Given the description of an element on the screen output the (x, y) to click on. 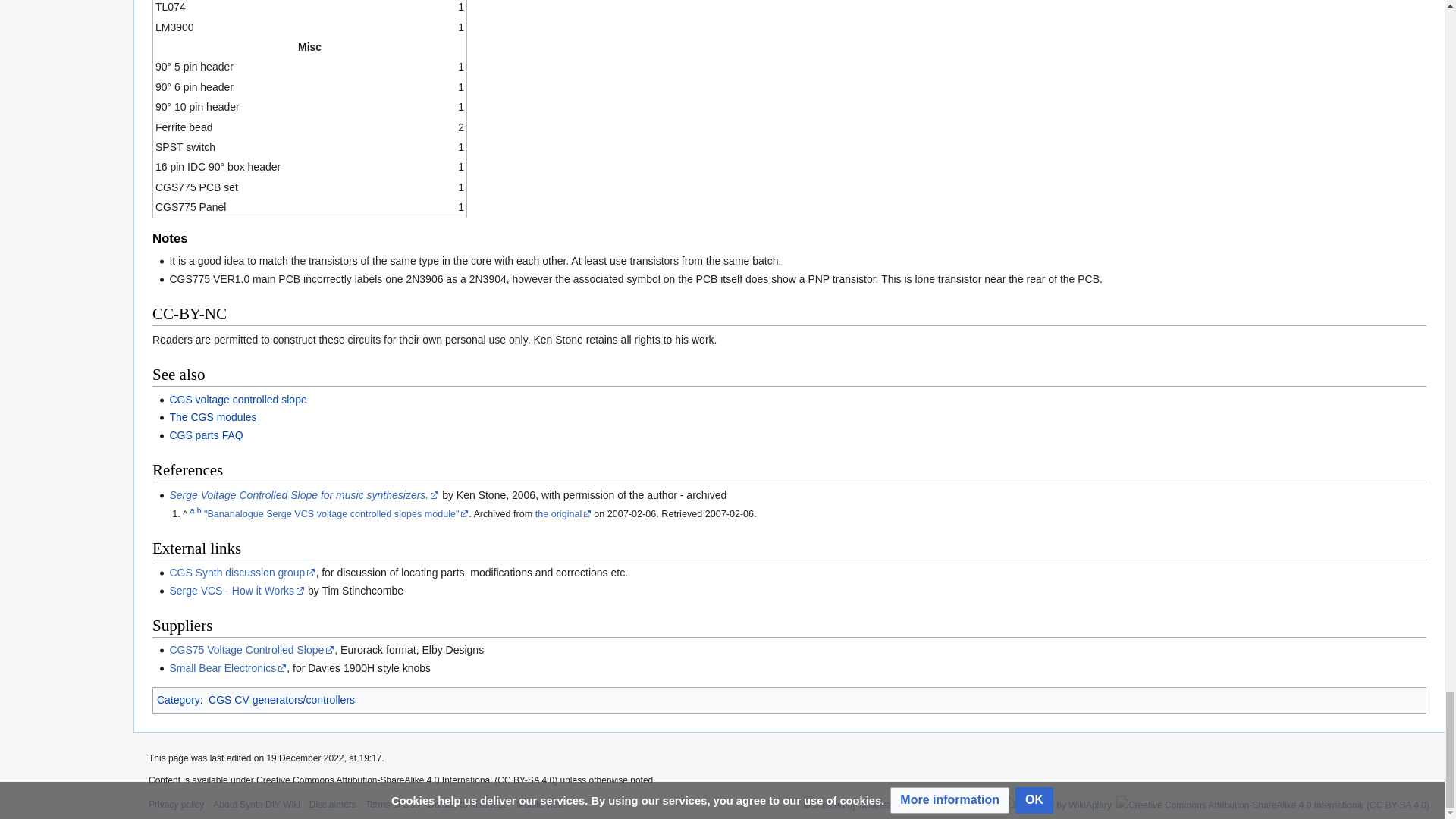
the original (563, 513)
Serge Voltage Controlled Slope for music synthesizers. (303, 494)
Small Bear Electronics (227, 667)
CGS parts FAQ (205, 435)
CGS75 Voltage Controlled Slope (251, 649)
CGS parts FAQ (205, 435)
Serge VCS - How it Works (236, 590)
"Bananalogue Serge VCS voltage controlled slopes module" (335, 513)
CGS voltage controlled slope (236, 399)
CGS voltage controlled slope (236, 399)
The CGS modules (212, 417)
CGS Synth discussion group (241, 572)
Special:Categories (178, 699)
CatGirl Synth (212, 417)
